Given the description of an element on the screen output the (x, y) to click on. 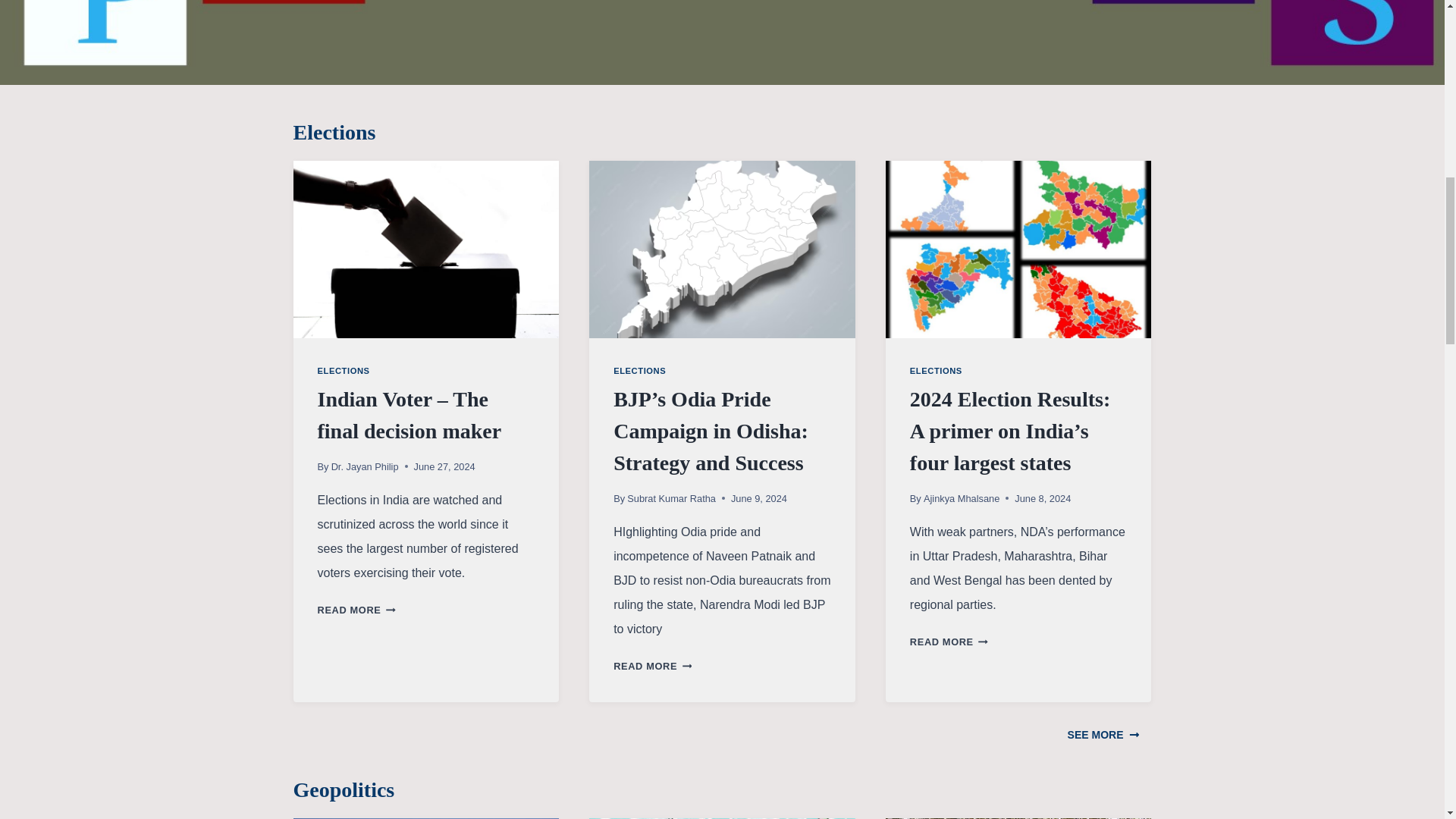
ELECTIONS (343, 370)
Elections (721, 132)
Dr. Jayan Philip (364, 466)
